Given the description of an element on the screen output the (x, y) to click on. 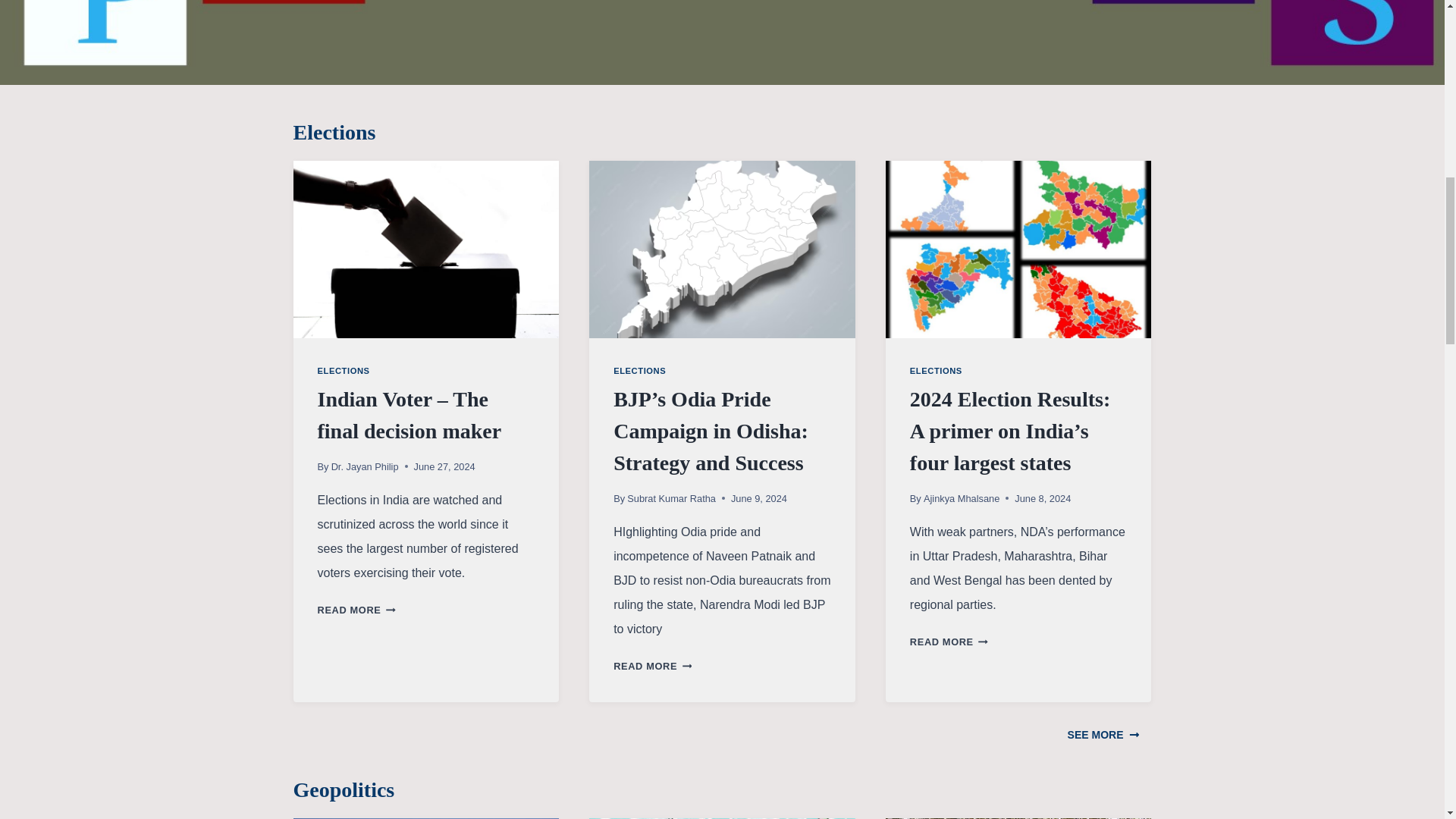
ELECTIONS (343, 370)
Elections (721, 132)
Dr. Jayan Philip (364, 466)
